Given the description of an element on the screen output the (x, y) to click on. 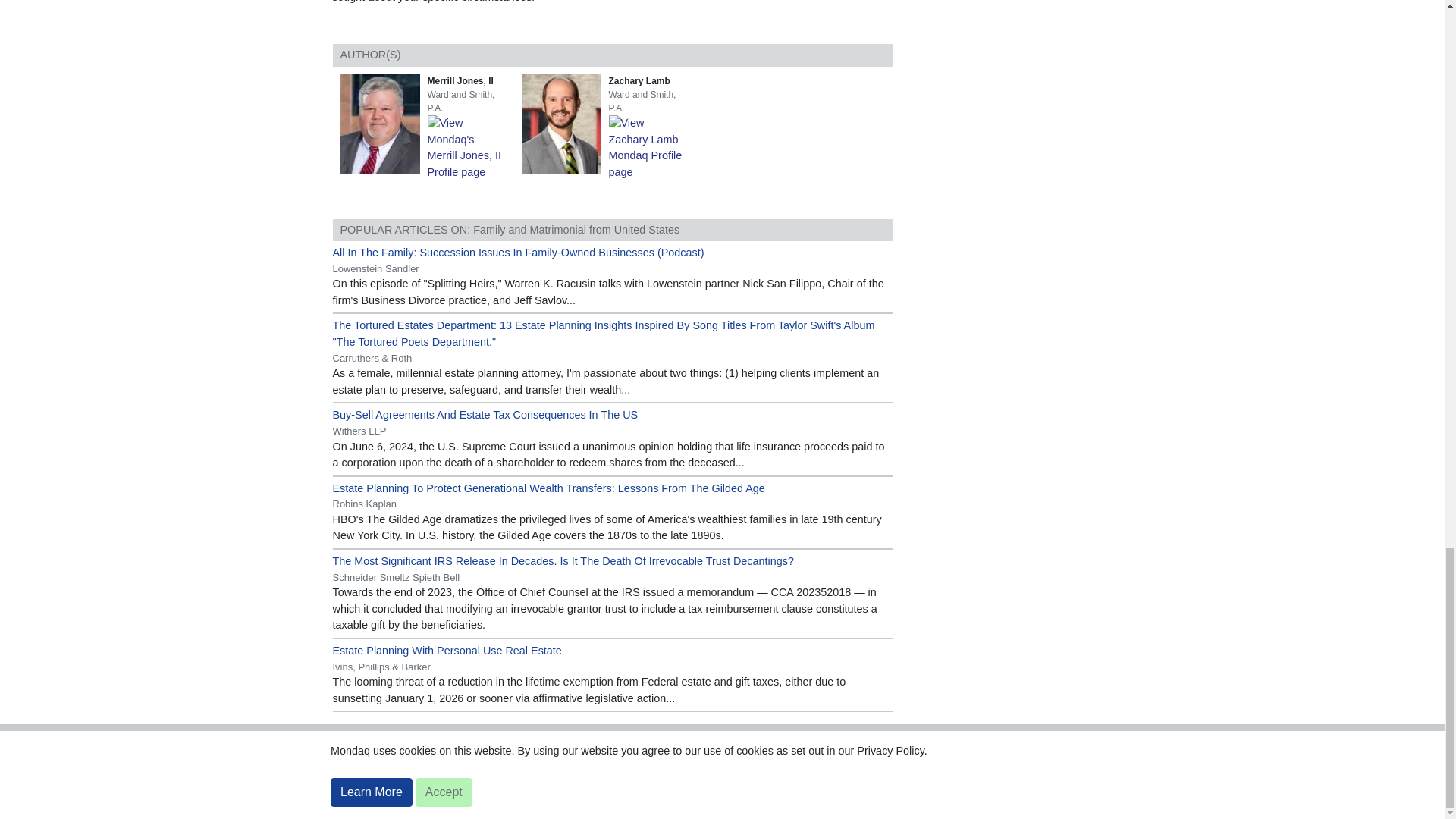
View this authors biography on their website (382, 122)
More from Merrill  Jones, II (469, 146)
View this authors biography on their website (564, 122)
More from Zachary  Lamb (649, 146)
